Given the description of an element on the screen output the (x, y) to click on. 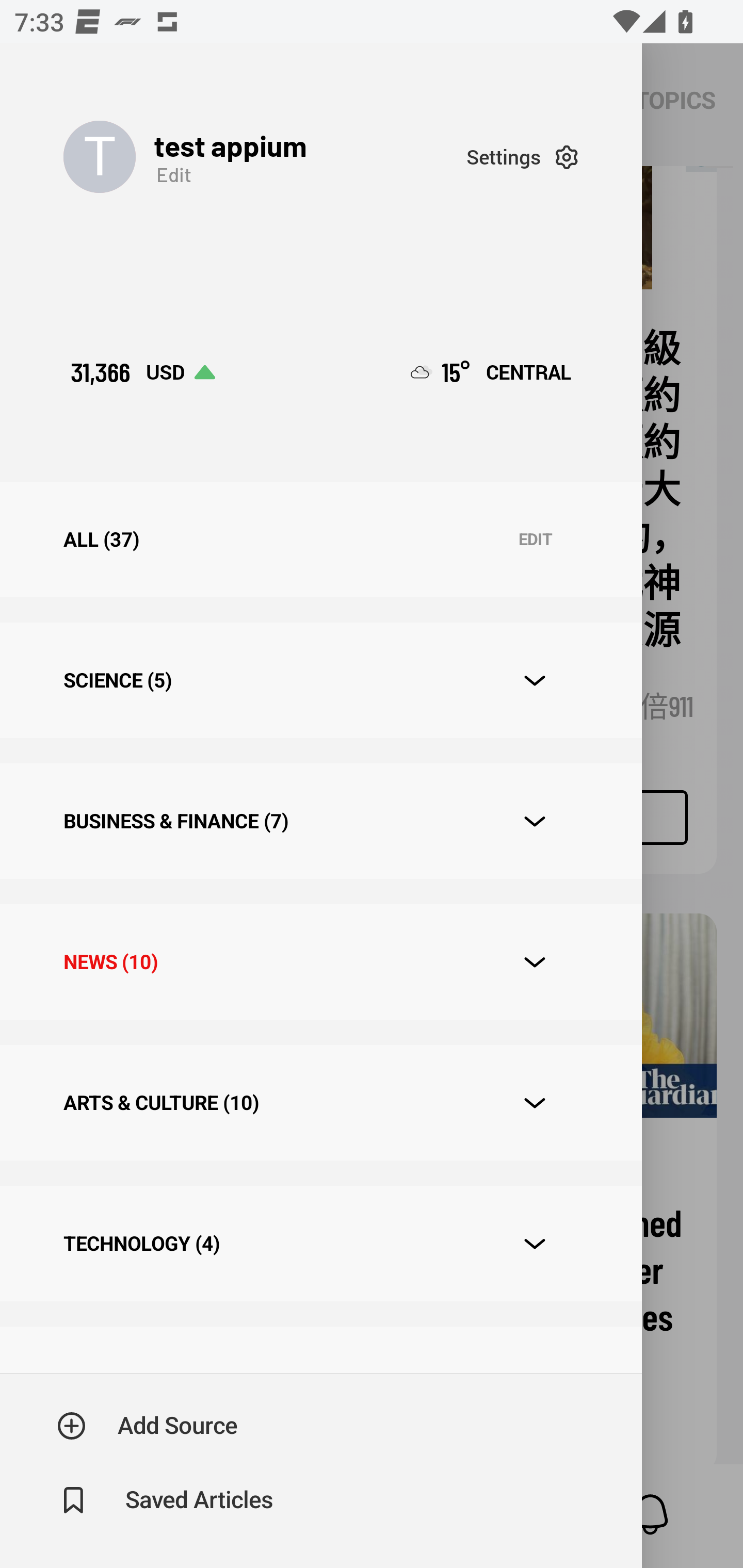
T test appium Edit (264, 156)
Settings Select News Style (522, 156)
31,366 USD Current State of the Currency (142, 372)
Current State of the Weather 15° CENTRAL (490, 372)
ALL  (37) EDIT (320, 539)
EDIT (534, 540)
SCIENCE  (5) Expand Button (320, 680)
Expand Button (534, 681)
BUSINESS & FINANCE  (7) Expand Button (320, 821)
Expand Button (534, 821)
NEWS  (10) Expand Button (320, 961)
Expand Button (534, 961)
ARTS & CULTURE  (10) Expand Button (320, 1102)
Expand Button (534, 1102)
TECHNOLOGY  (4) Expand Button (320, 1243)
Expand Button (534, 1244)
Open Content Store Add Source (147, 1425)
Open Saved News  Saved Articles (166, 1500)
